Given the description of an element on the screen output the (x, y) to click on. 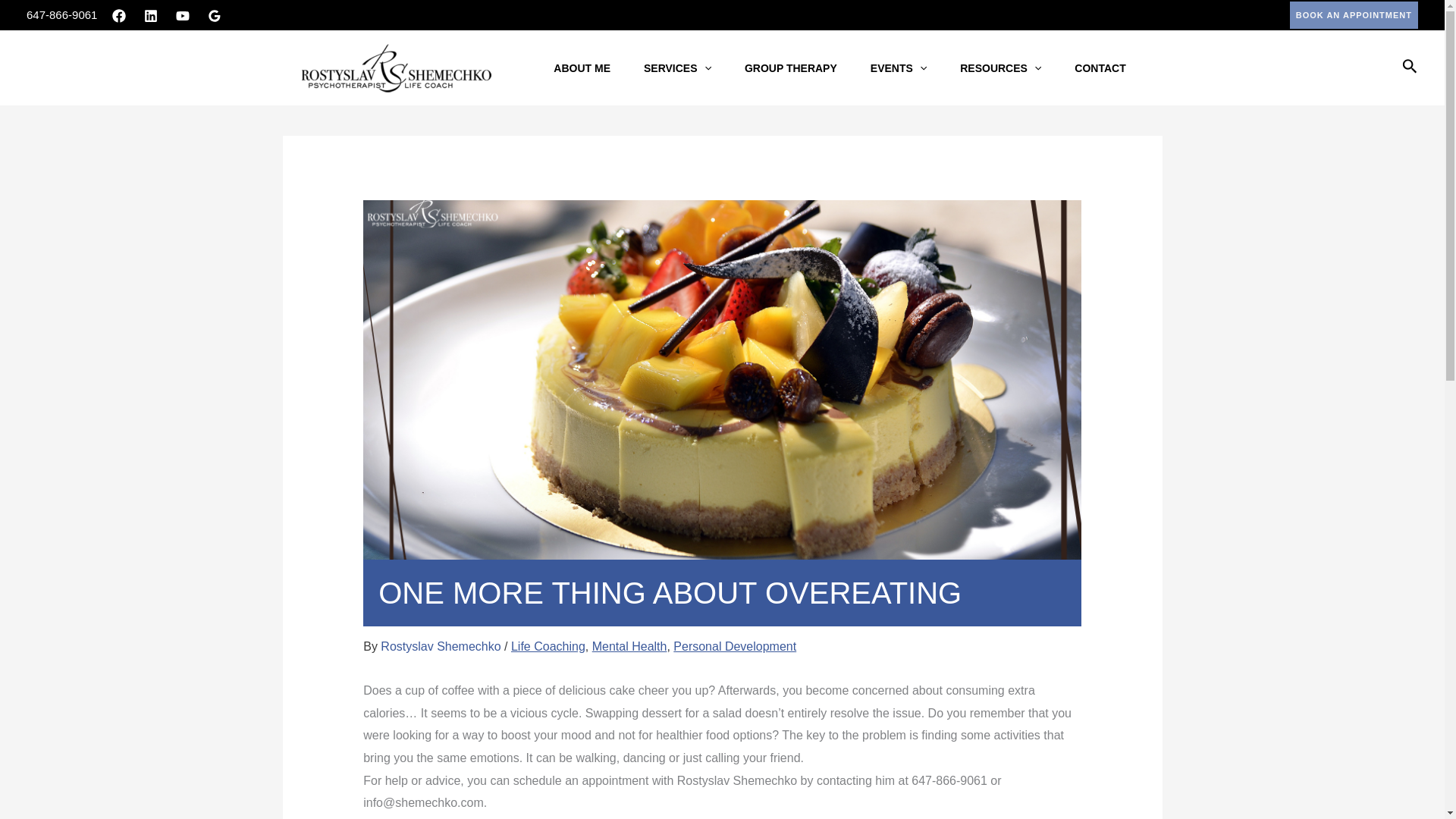
CONTACT (1099, 67)
BOOK AN APPOINTMENT (1354, 14)
Rostyslav Shemechko (441, 645)
ABOUT ME (582, 67)
Mental Health (629, 645)
EVENTS (898, 67)
Personal Development (734, 645)
RESOURCES (1000, 67)
GROUP THERAPY (790, 67)
View all posts by Rostyslav Shemechko (441, 645)
647-866-9061 (61, 14)
Life Coaching (548, 645)
SERVICES (677, 67)
